Given the description of an element on the screen output the (x, y) to click on. 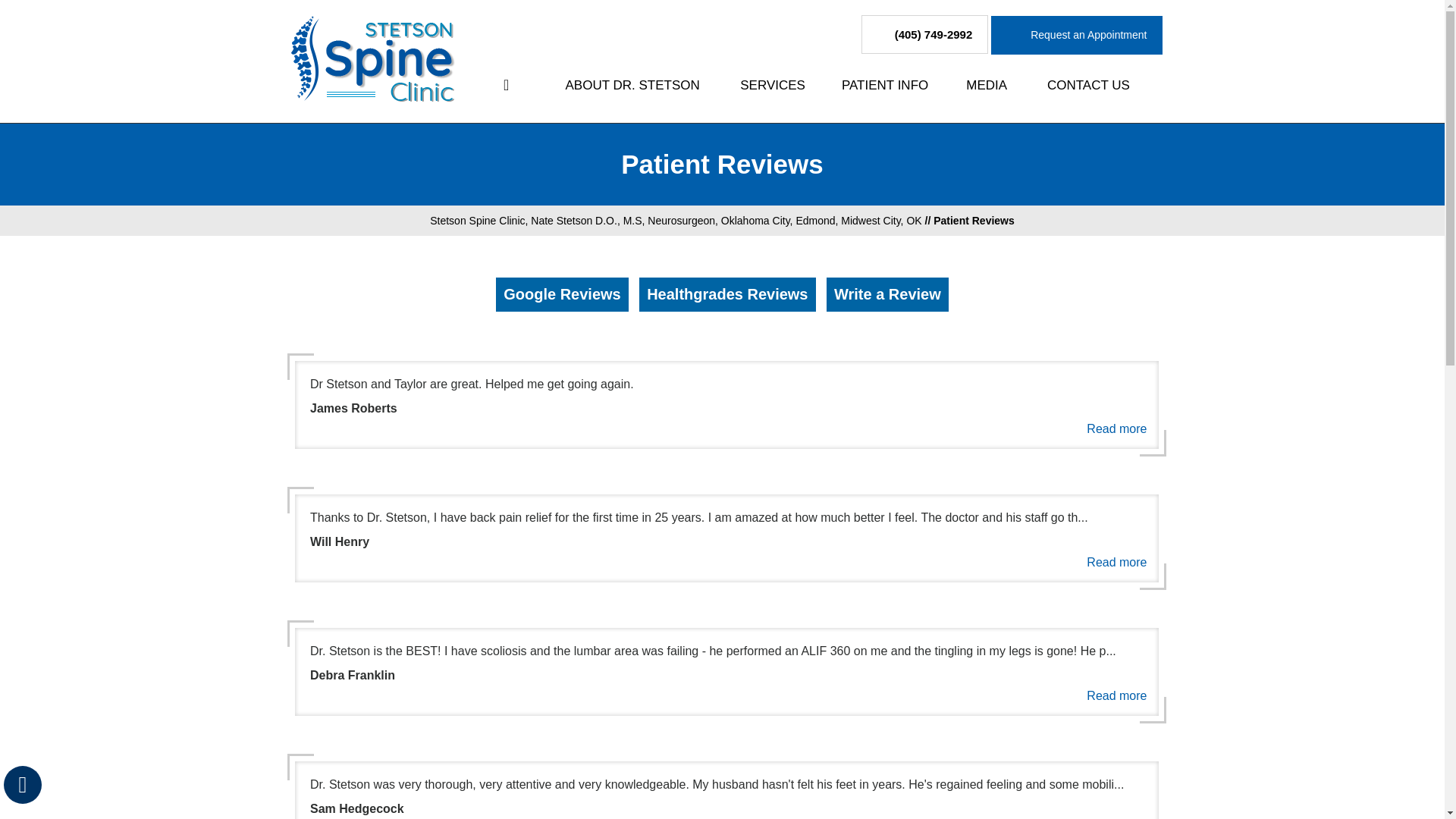
HOME (505, 85)
PATIENT INFO (885, 85)
MEDIA (986, 85)
Accessible Tool Options (23, 784)
Request an Appointment (1076, 34)
SERVICES (772, 85)
CONTACT US (1088, 85)
ABOUT DR. STETSON (632, 85)
Hide (22, 784)
